Given the description of an element on the screen output the (x, y) to click on. 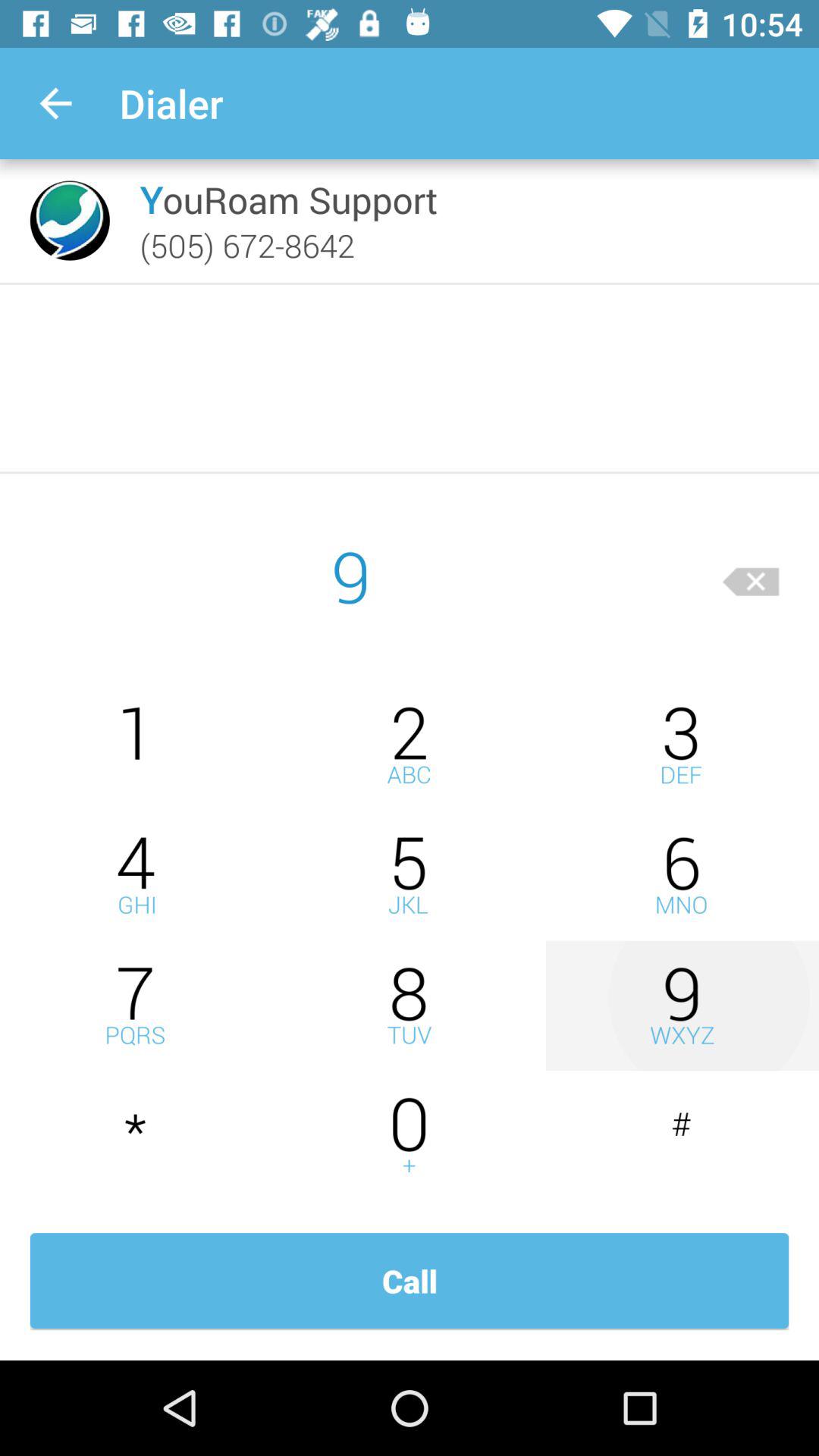
number nine on keyboard (682, 1005)
